Given the description of an element on the screen output the (x, y) to click on. 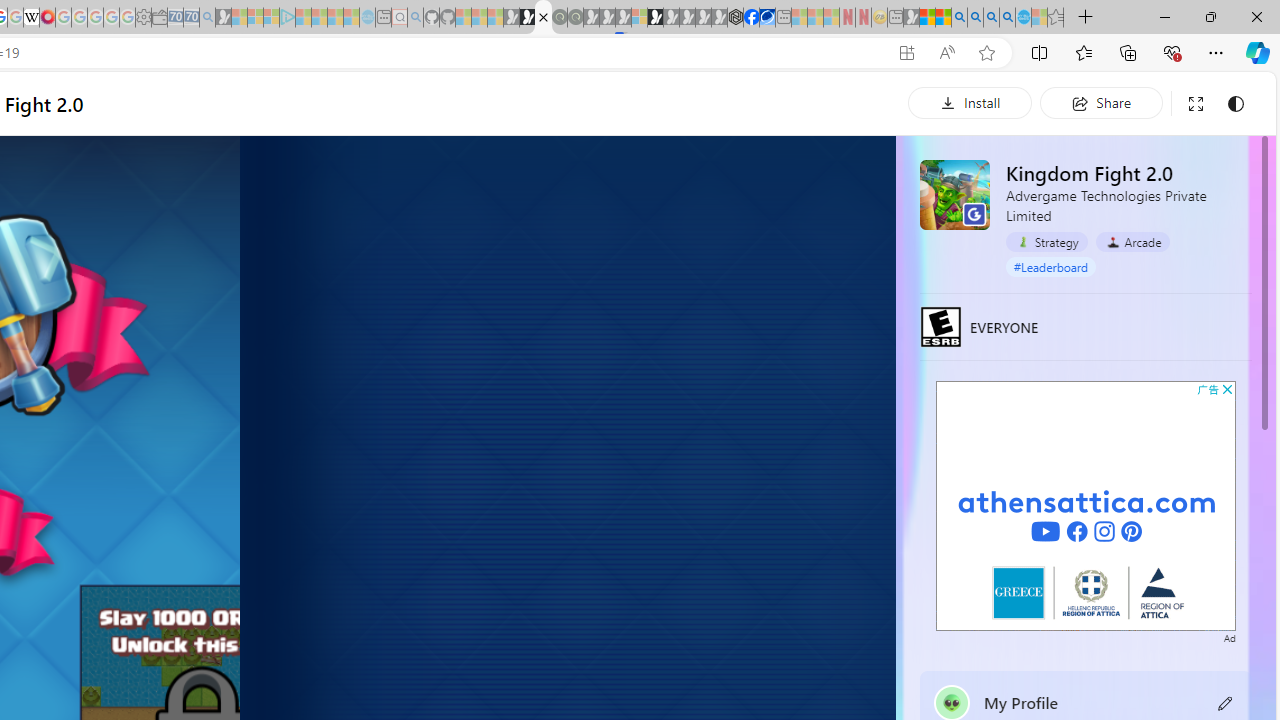
EVERYONE (941, 326)
Wallet - Sleeping (159, 17)
Strategy (1047, 241)
AutomationID: cbb (1227, 389)
2009 Bing officially replaced Live Search on June 3 - Search (975, 17)
#Leaderboard (1051, 267)
Arcade (1132, 241)
